Given the description of an element on the screen output the (x, y) to click on. 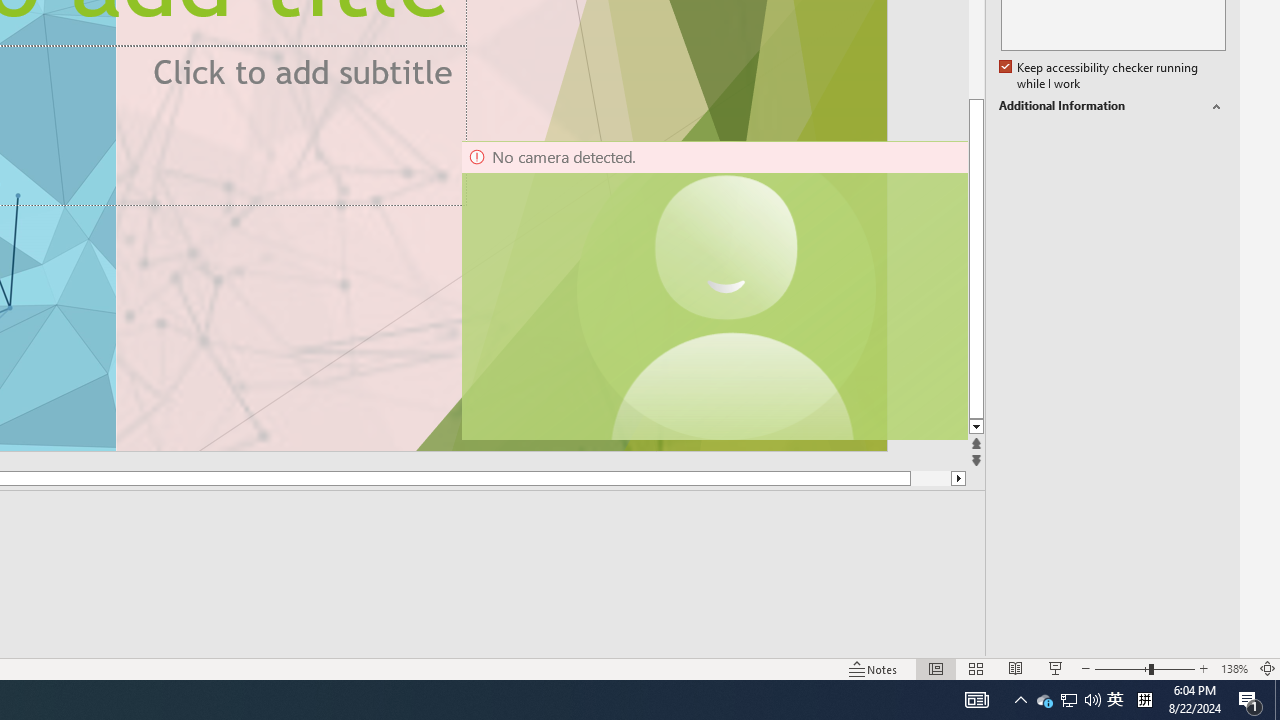
Zoom 138% (1234, 668)
Zoom In (1204, 668)
Zoom to Fit  (1267, 668)
Notes  (874, 668)
Additional Information (1112, 106)
Camera 11, No camera detected. (727, 290)
Line down (976, 427)
Zoom Out (1121, 668)
Reading View (1015, 668)
Keep accessibility checker running while I work (1099, 76)
Normal (936, 668)
Camera 14, No camera detected. (713, 290)
